Given the description of an element on the screen output the (x, y) to click on. 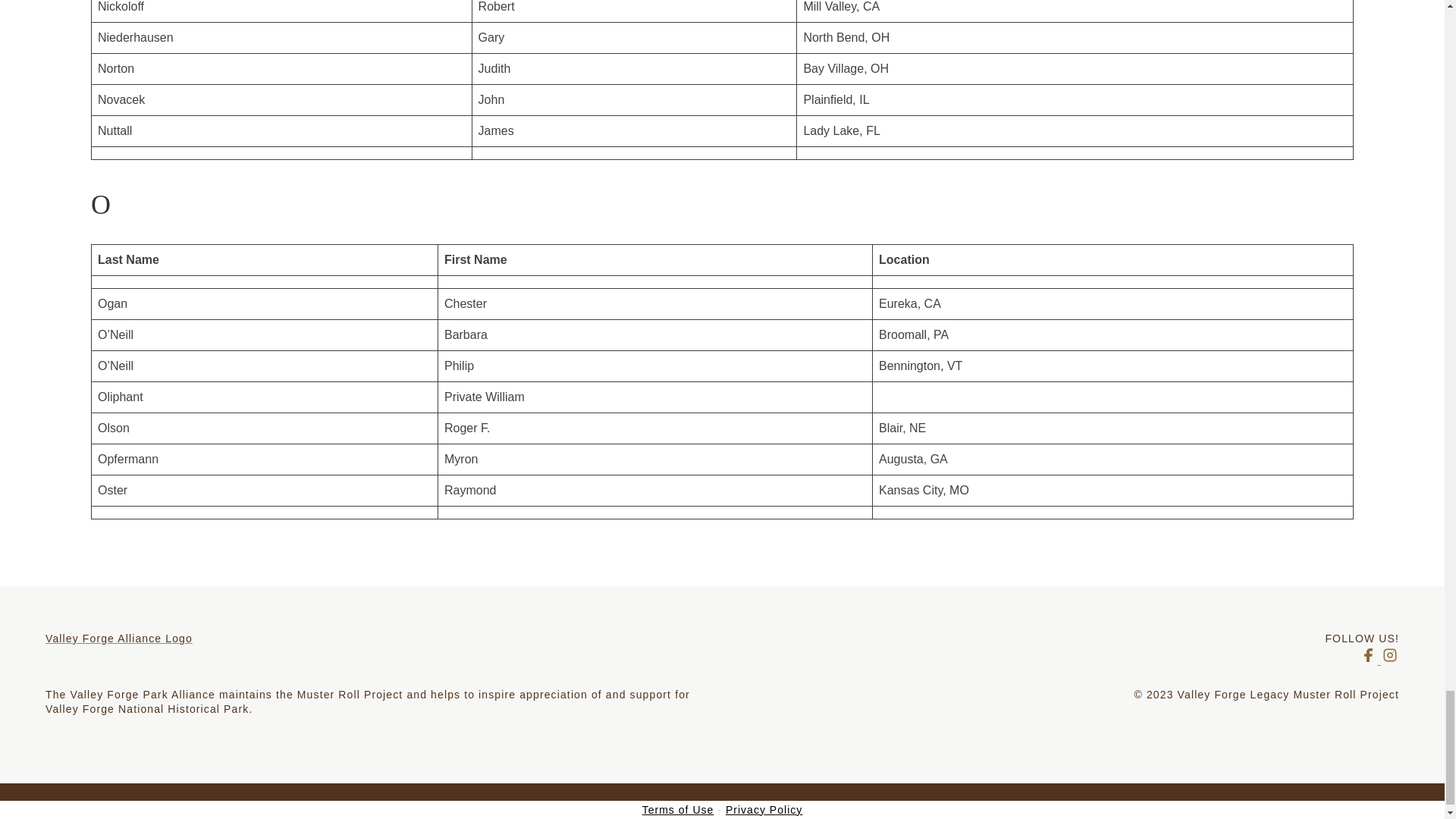
Privacy Policy (763, 809)
Valley Forge Alliance Logo (383, 638)
Terms of Use (678, 809)
